Given the description of an element on the screen output the (x, y) to click on. 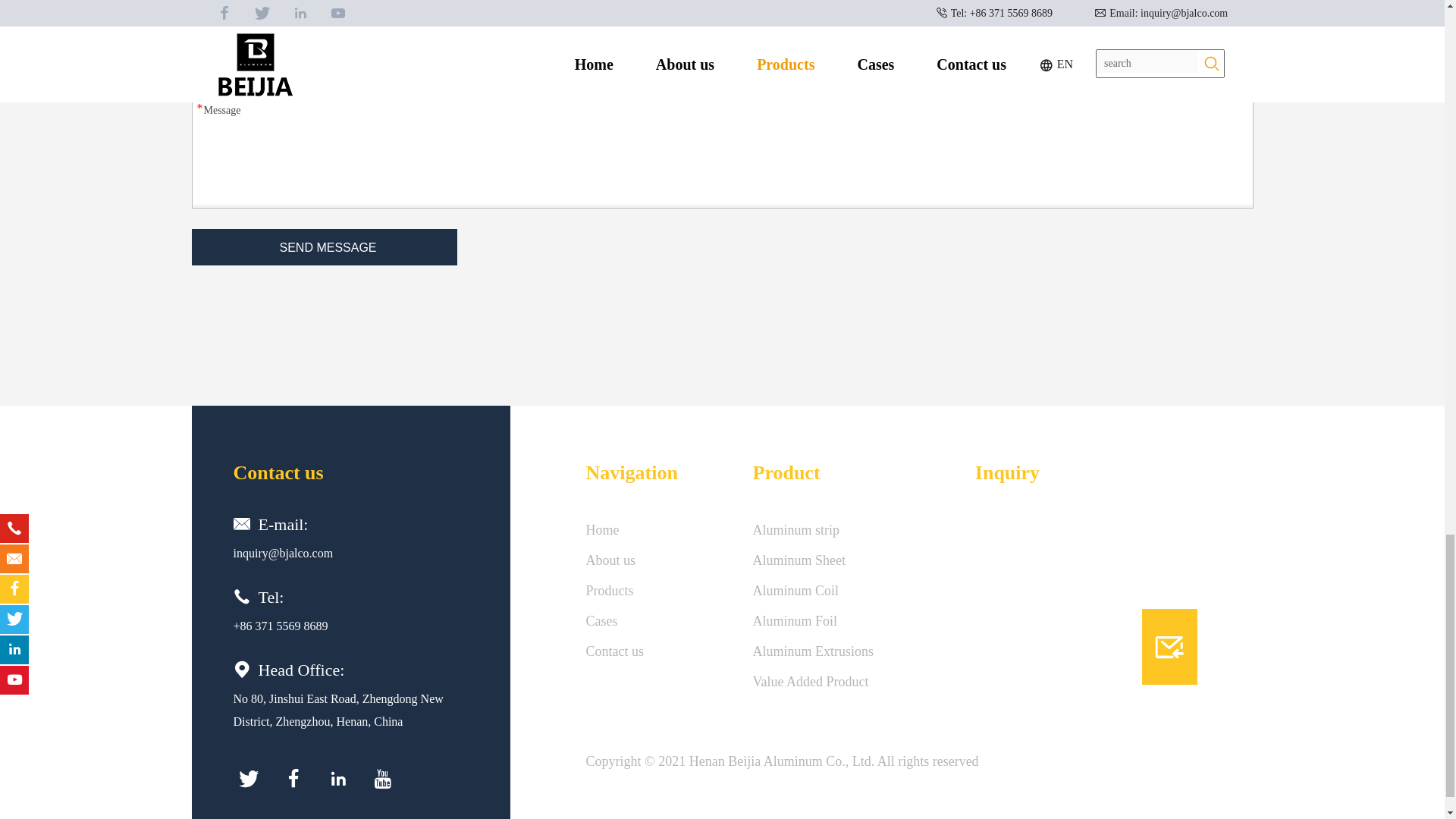
linkedin (338, 778)
youtube (381, 778)
facebook (292, 778)
twitter (247, 778)
SEND MESSAGE (323, 247)
